Given the description of an element on the screen output the (x, y) to click on. 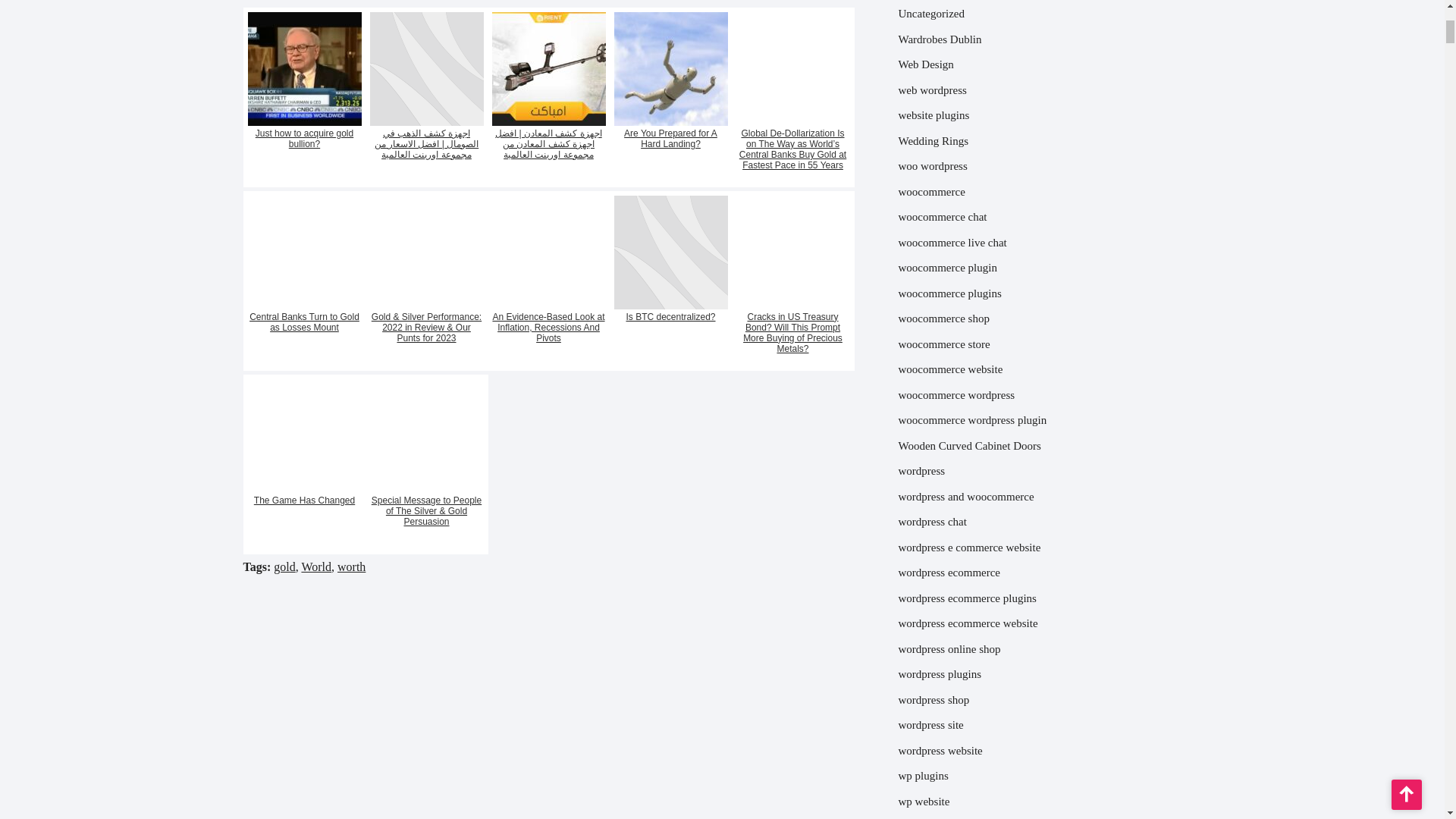
gold (284, 566)
World (316, 566)
worth (351, 566)
